Given the description of an element on the screen output the (x, y) to click on. 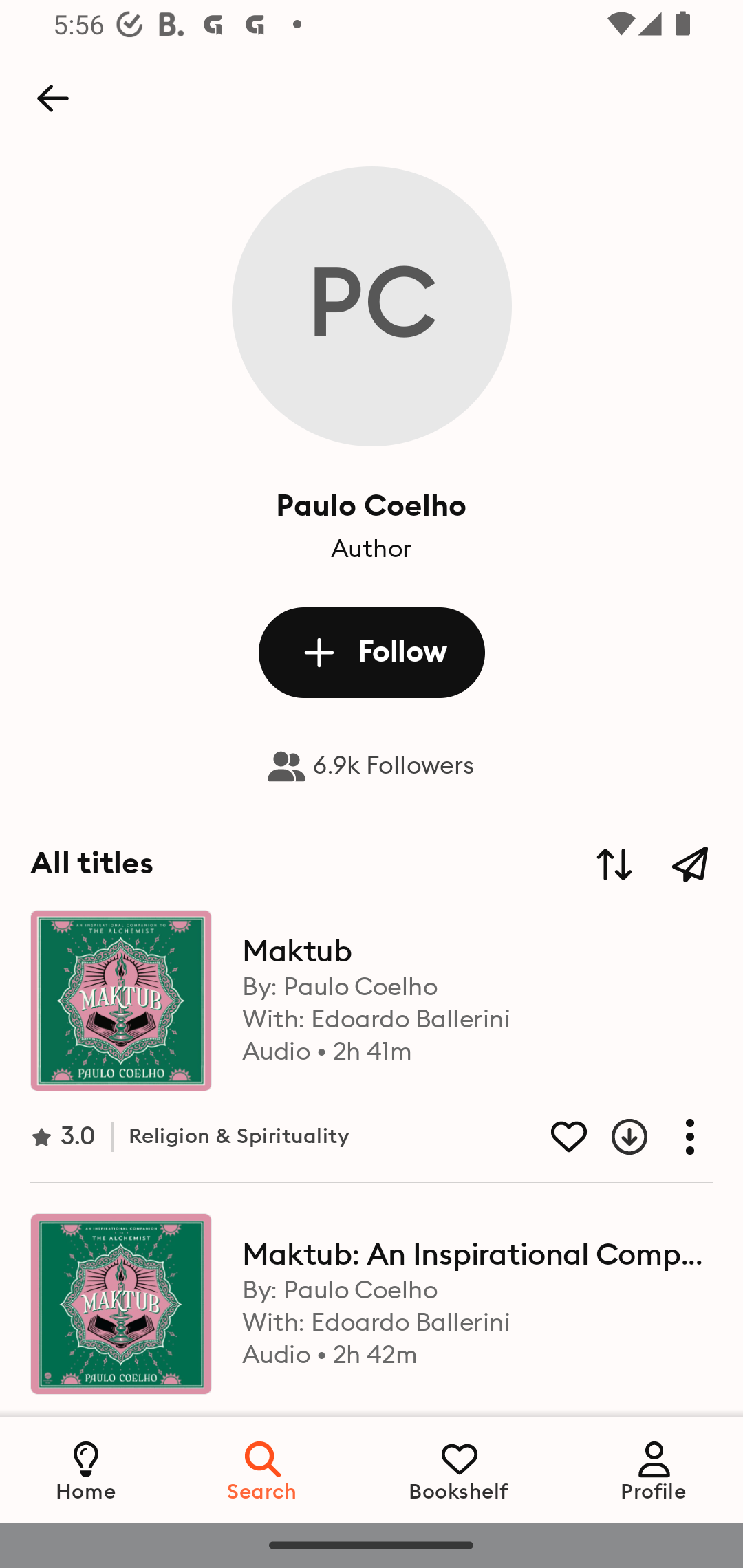
Back (52, 98)
Follow (371, 651)
Download (613, 1136)
Home (85, 1468)
Search (262, 1468)
Bookshelf (458, 1468)
Profile (653, 1468)
